Given the description of an element on the screen output the (x, y) to click on. 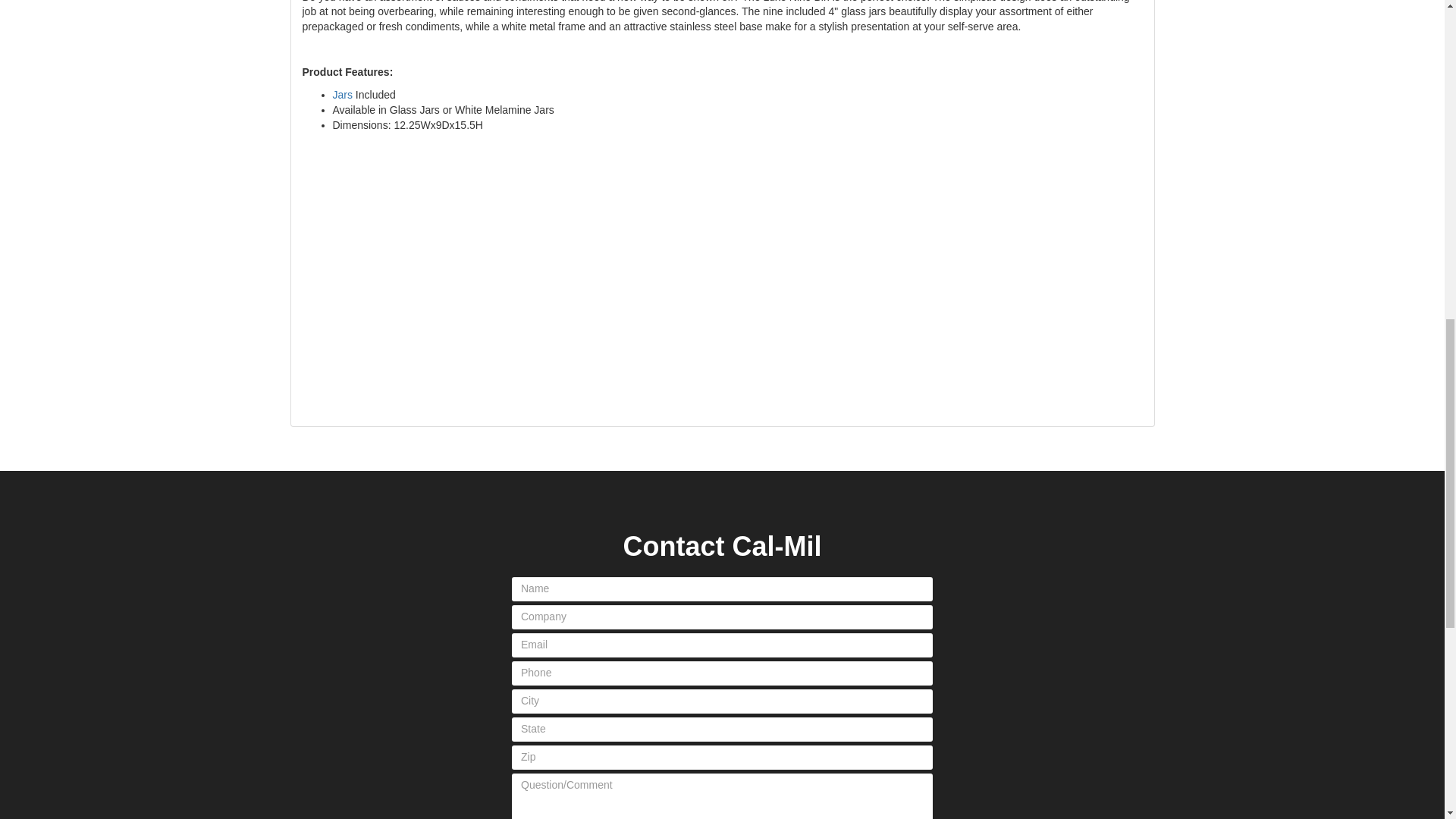
Back to Top (1388, 30)
